Given the description of an element on the screen output the (x, y) to click on. 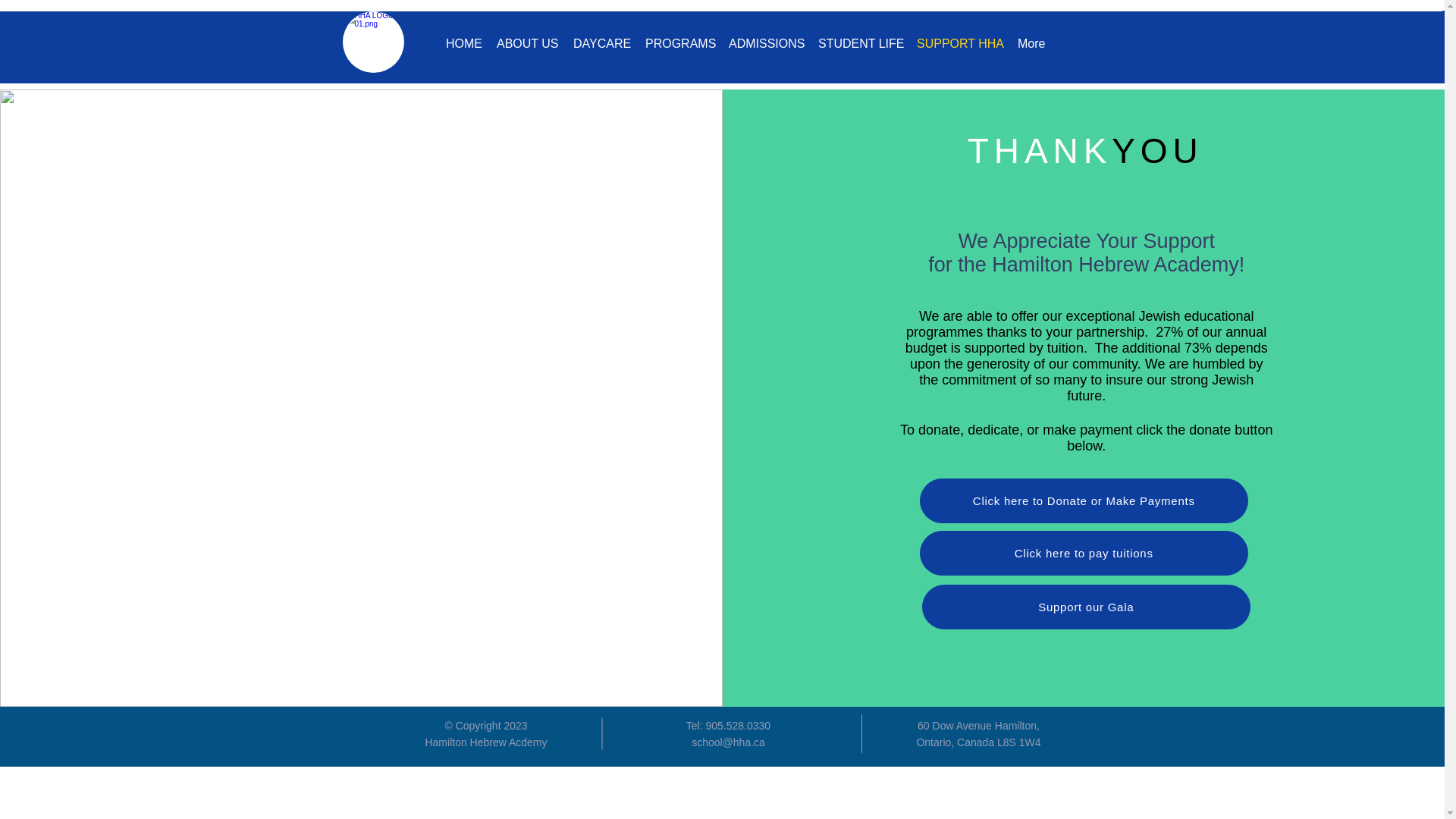
Support our Gala (1085, 606)
SUPPORT HHA (959, 43)
Click here to Donate or Make Payments (1083, 500)
PROGRAMS (678, 43)
ABOUT US (527, 43)
STUDENT LIFE (859, 43)
DAYCARE (601, 43)
HOME (463, 43)
Click here to pay tuitions (1083, 552)
ADMISSIONS (765, 43)
